Given the description of an element on the screen output the (x, y) to click on. 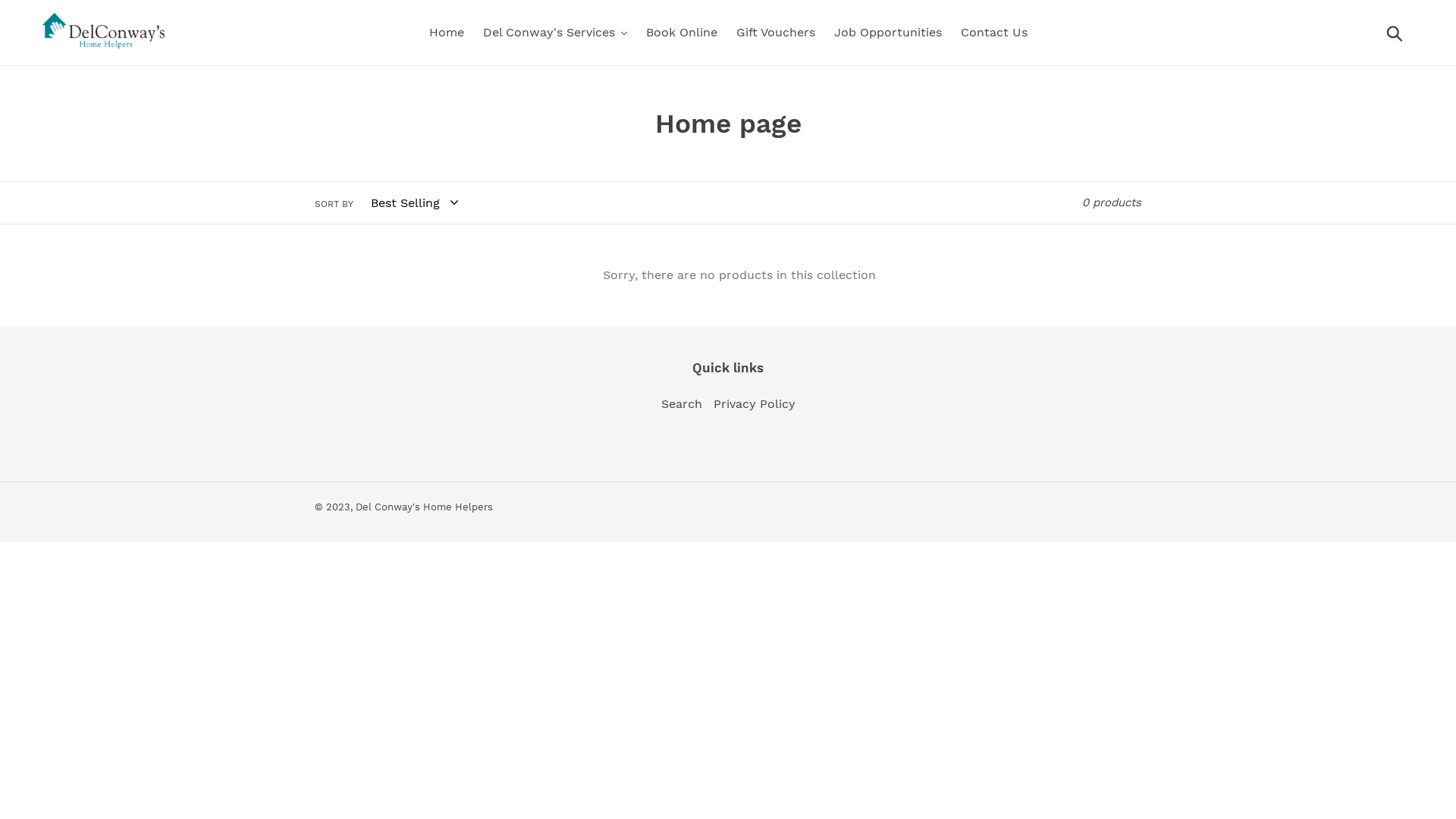
Job Opportunities Element type: text (887, 32)
Home Element type: text (446, 32)
Del Conway's Home Helpers Element type: text (423, 506)
Submit Element type: text (1395, 32)
Privacy Policy Element type: text (753, 403)
Contact Us Element type: text (993, 32)
Search Element type: text (681, 403)
Book Online Element type: text (681, 32)
Gift Vouchers Element type: text (775, 32)
